Given the description of an element on the screen output the (x, y) to click on. 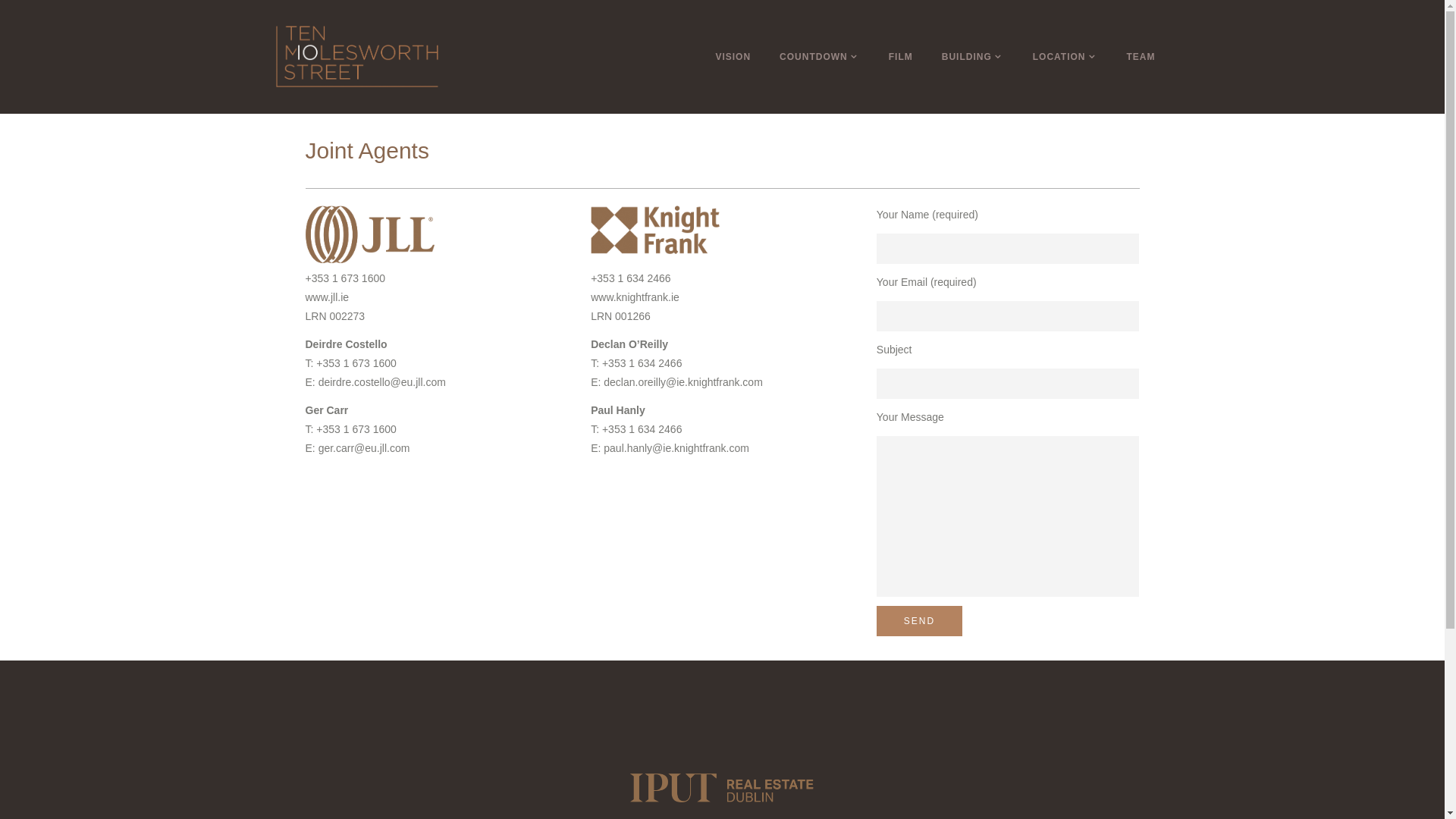
ger.carr@eu.jll.com Element type: text (364, 448)
declan.oreilly@ie.knightfrank.com Element type: text (682, 382)
Send Element type: text (919, 620)
VISION Element type: text (732, 56)
deirdre.costello@eu.jll.com Element type: text (381, 382)
FILM Element type: text (900, 56)
LOCATION Element type: text (1065, 56)
paul.hanly@ie.knightfrank.com Element type: text (676, 448)
TEAM Element type: text (1140, 56)
www.knightfrank.ie Element type: text (634, 297)
BUILDING Element type: text (972, 56)
COUNTDOWN Element type: text (819, 56)
